Given the description of an element on the screen output the (x, y) to click on. 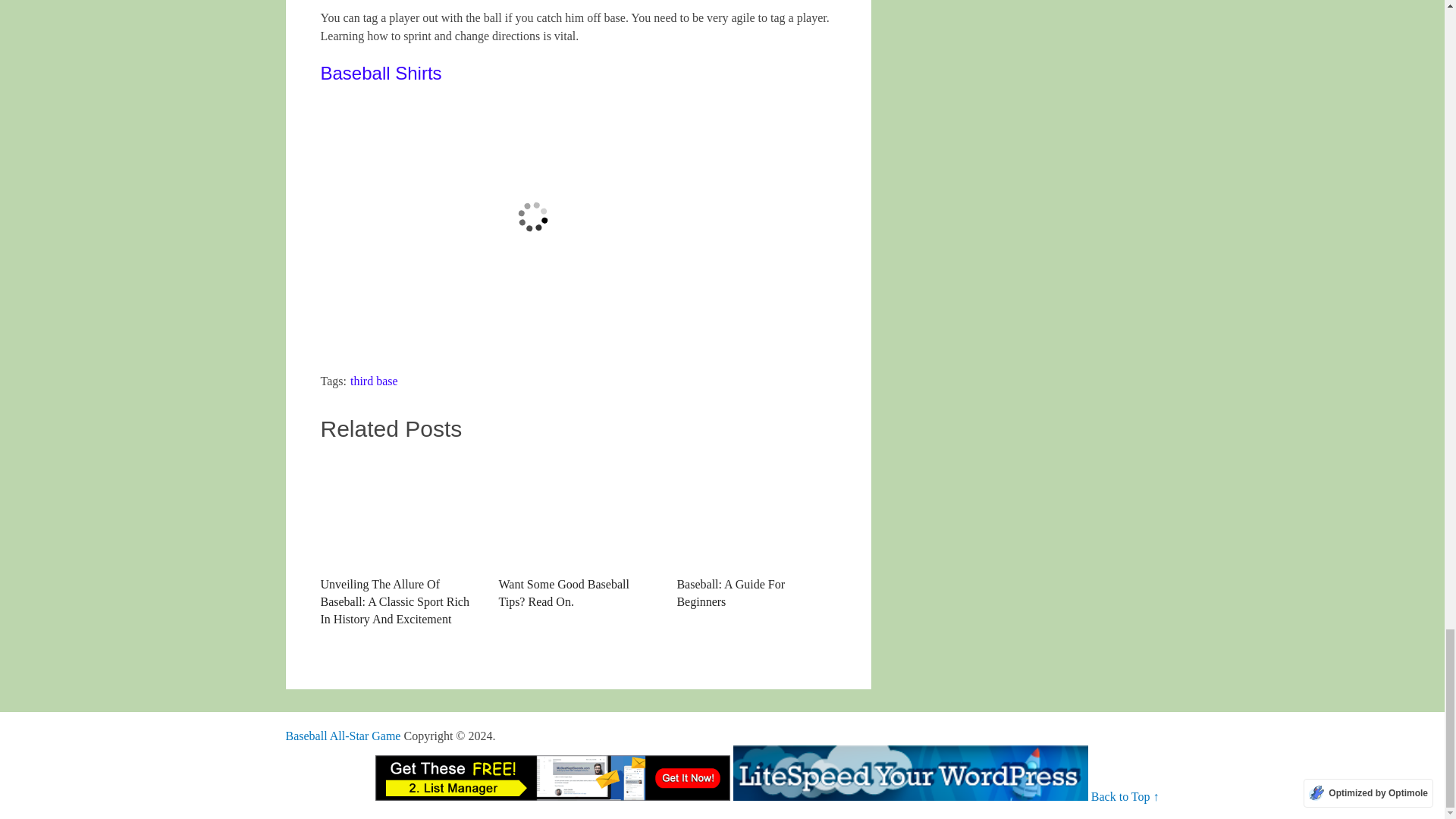
third base (373, 380)
MAJOR LEAGUE BASEBALL ALL-STAR GAME (342, 735)
Baseball: A Guide For Beginners (756, 532)
Want Some Good Baseball Tips? Read On. (577, 511)
Baseball Shirts (380, 73)
Want Some Good Baseball Tips? Read On. (577, 532)
Baseball: A Guide For Beginners (756, 532)
YouTube video player (532, 216)
